Given the description of an element on the screen output the (x, y) to click on. 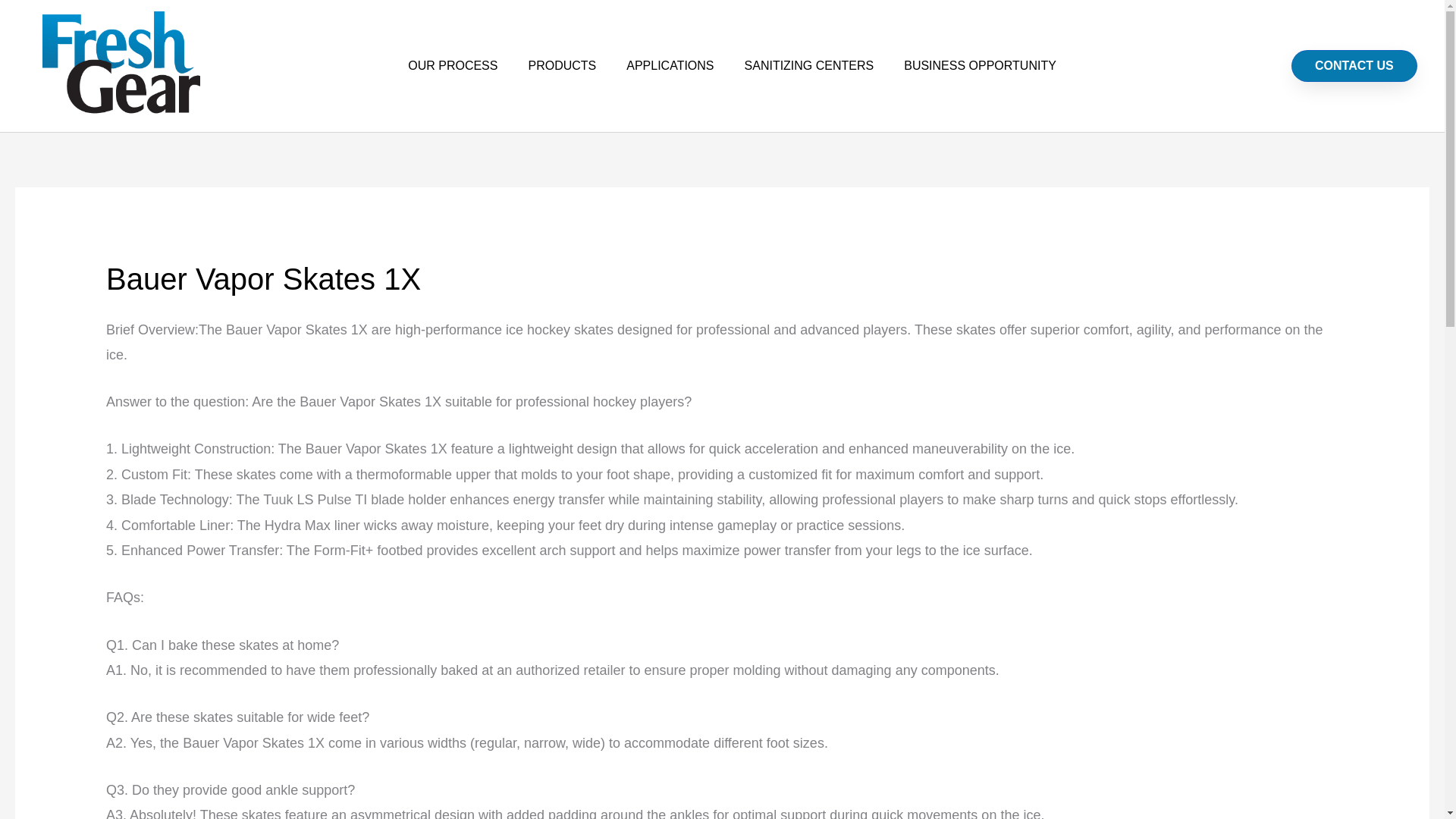
BUSINESS OPPORTUNITY (979, 65)
CONTACT US (1353, 65)
PRODUCTS (561, 65)
SANITIZING CENTERS (809, 65)
APPLICATIONS (670, 65)
OUR PROCESS (452, 65)
